Given the description of an element on the screen output the (x, y) to click on. 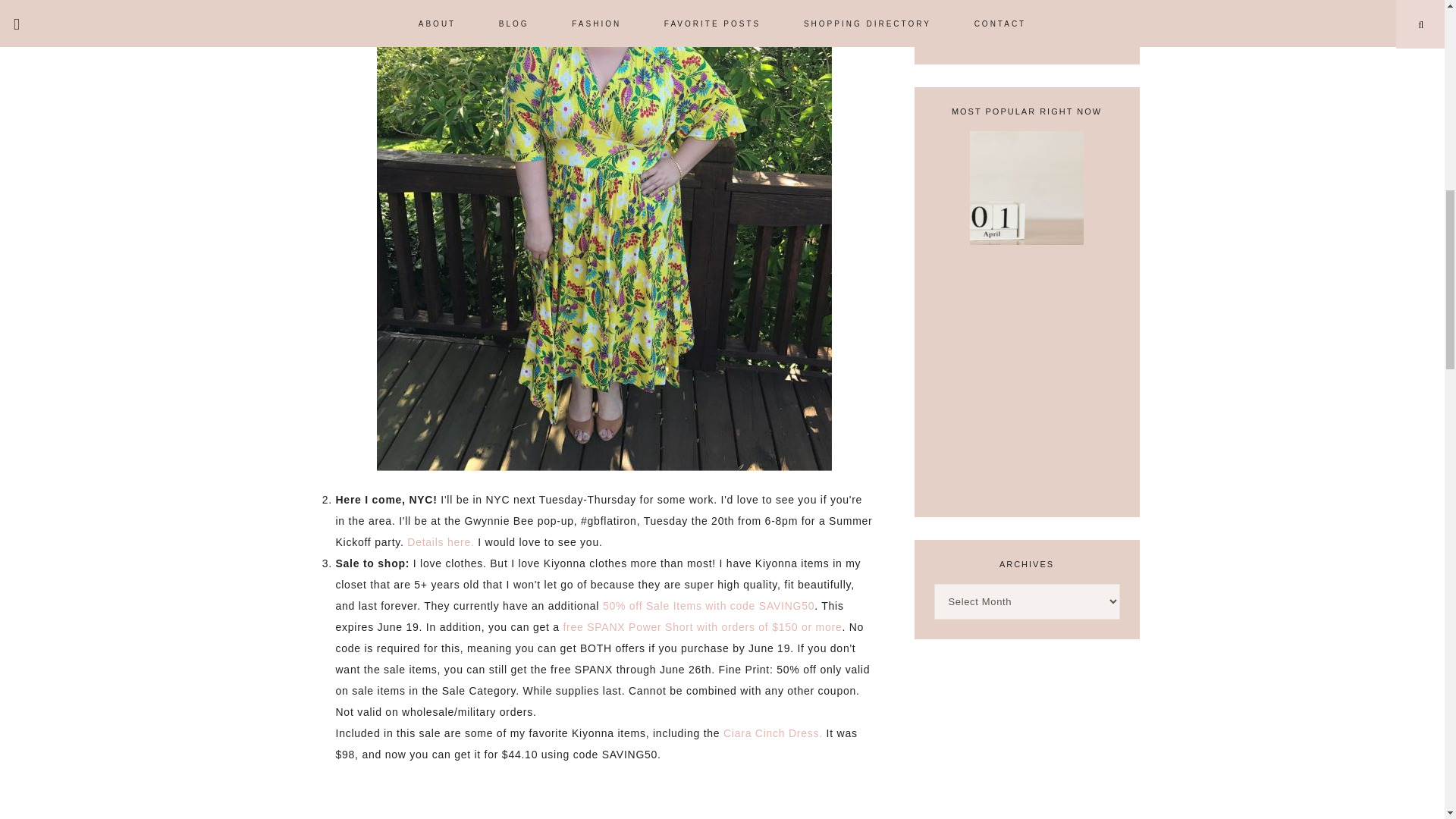
Favorite (1026, 33)
Fast Five 2 (603, 791)
